Given the description of an element on the screen output the (x, y) to click on. 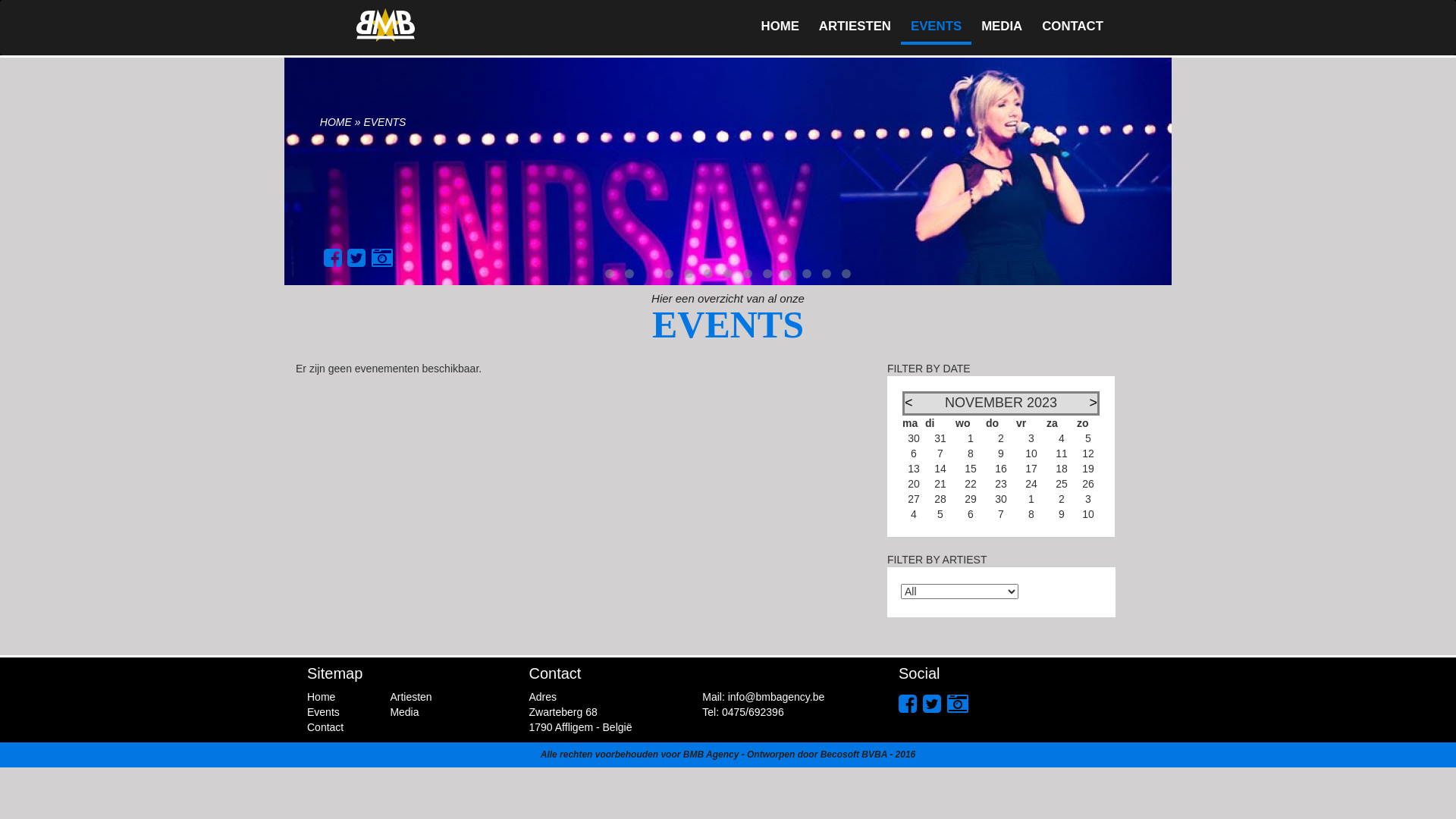
Events Element type: text (323, 712)
Facebook Element type: hover (332, 257)
Contact Element type: text (325, 727)
> Element type: text (1092, 402)
Instagram Element type: hover (957, 703)
HOME Element type: text (335, 122)
Artiesten Element type: text (410, 696)
EVENTS Element type: text (935, 27)
Twitter Element type: hover (356, 257)
< Element type: text (908, 402)
Back to home Element type: hover (385, 24)
Back to home Element type: hover (385, 27)
Media Element type: text (403, 712)
Twitter Element type: hover (931, 703)
CONTACT Element type: text (1072, 26)
ARTIESTEN Element type: text (854, 26)
info@bmbagency.be Element type: text (776, 696)
MEDIA Element type: text (1001, 26)
Instagram Element type: hover (381, 257)
HOME Element type: text (780, 26)
Home Element type: text (321, 696)
Facebook Element type: hover (907, 703)
